Given the description of an element on the screen output the (x, y) to click on. 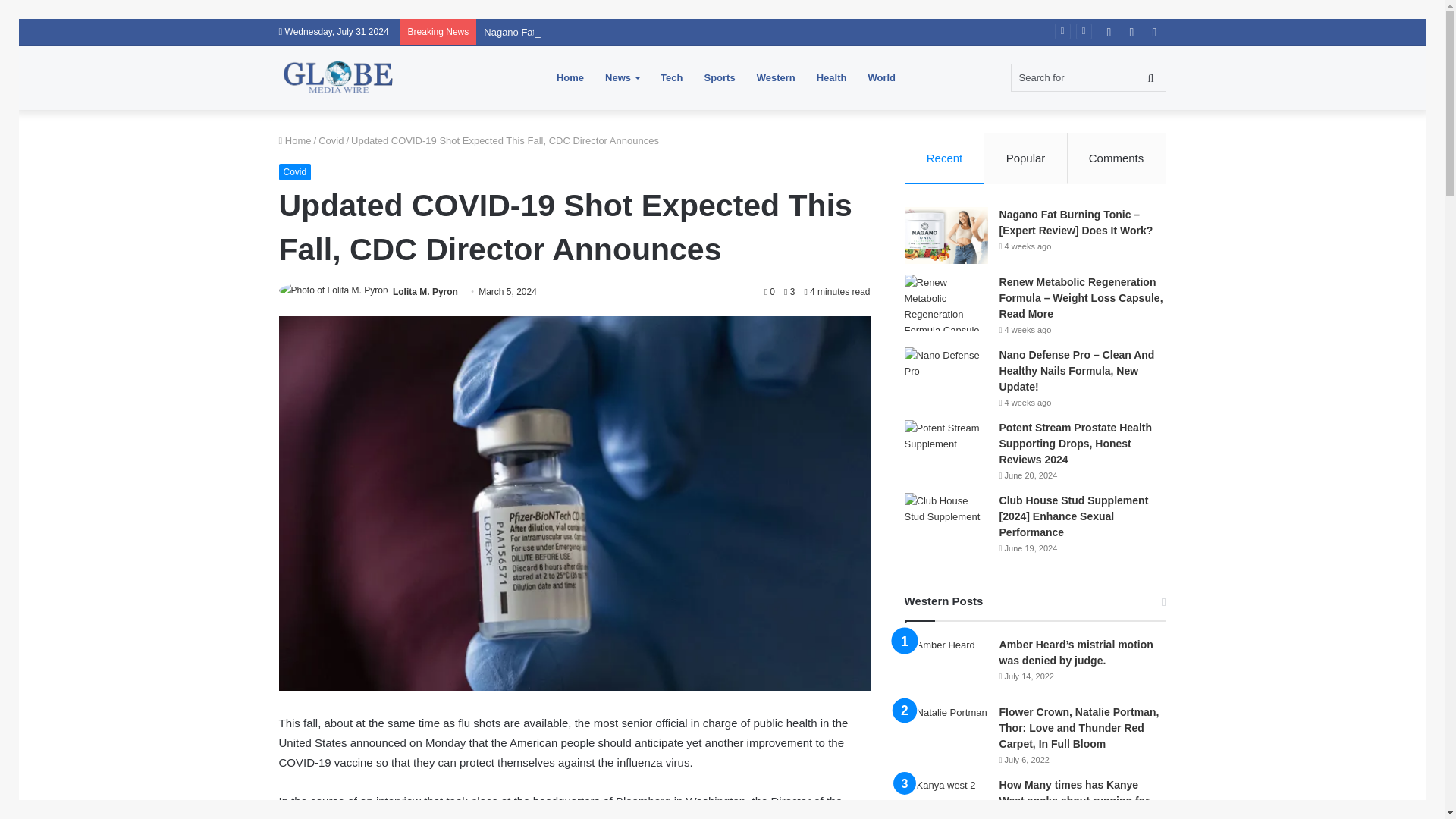
Western (775, 77)
Covid (330, 140)
Search for (1088, 77)
Covid (295, 171)
Lolita M. Pyron (425, 291)
Home (295, 140)
Lolita M. Pyron (425, 291)
Globe Media Wire (338, 77)
